Given the description of an element on the screen output the (x, y) to click on. 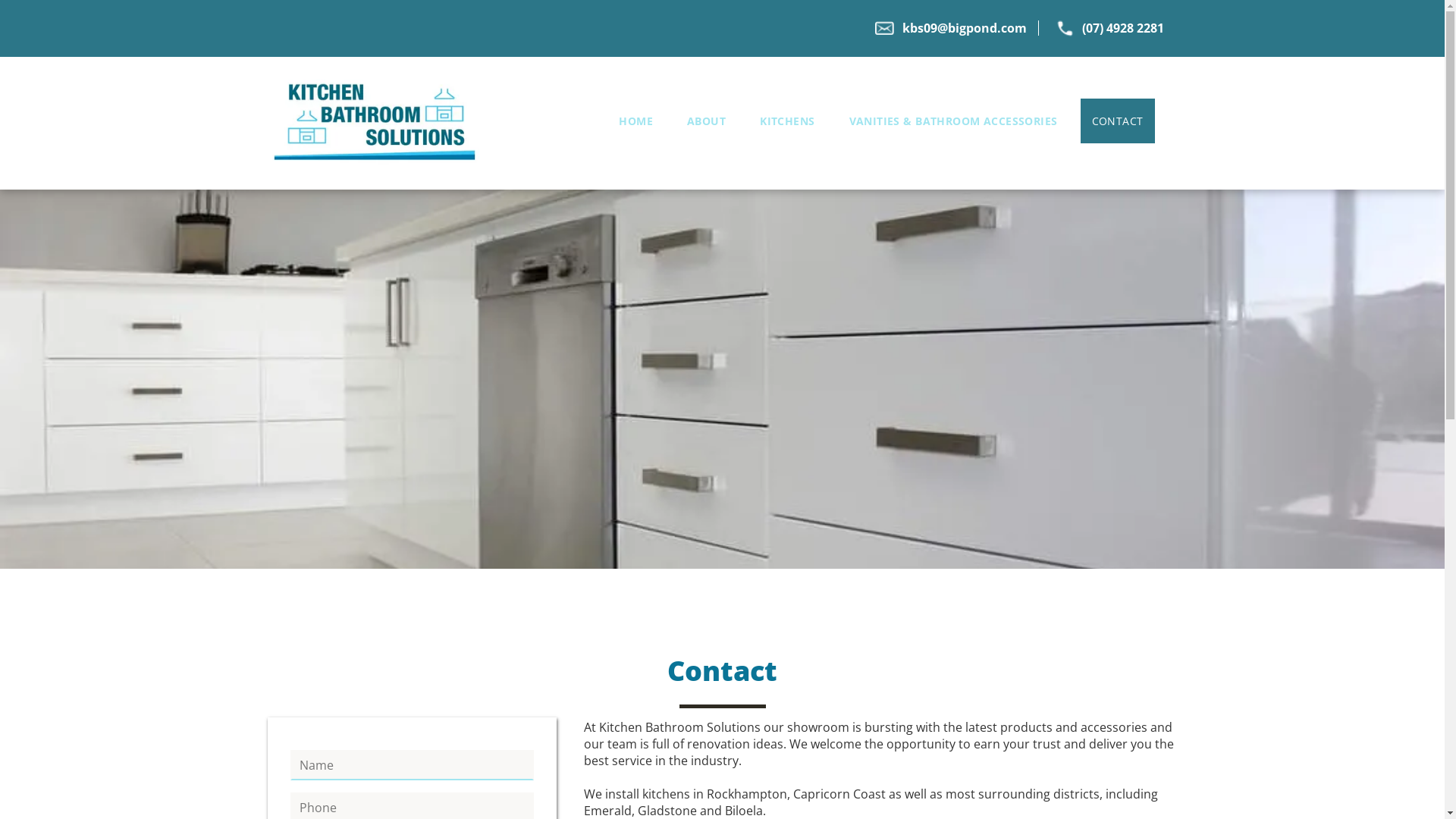
Kitchen Bathroom Solutions Element type: hover (373, 123)
ABOUT Element type: text (706, 120)
kbs09@bigpond.com Element type: text (964, 27)
HOME Element type: text (635, 120)
VANITIES & BATHROOM ACCESSORIES Element type: text (953, 120)
KITCHENS Element type: text (786, 120)
CONTACT Element type: text (1117, 120)
(07) 4928 2281 Element type: text (1123, 27)
